Given the description of an element on the screen output the (x, y) to click on. 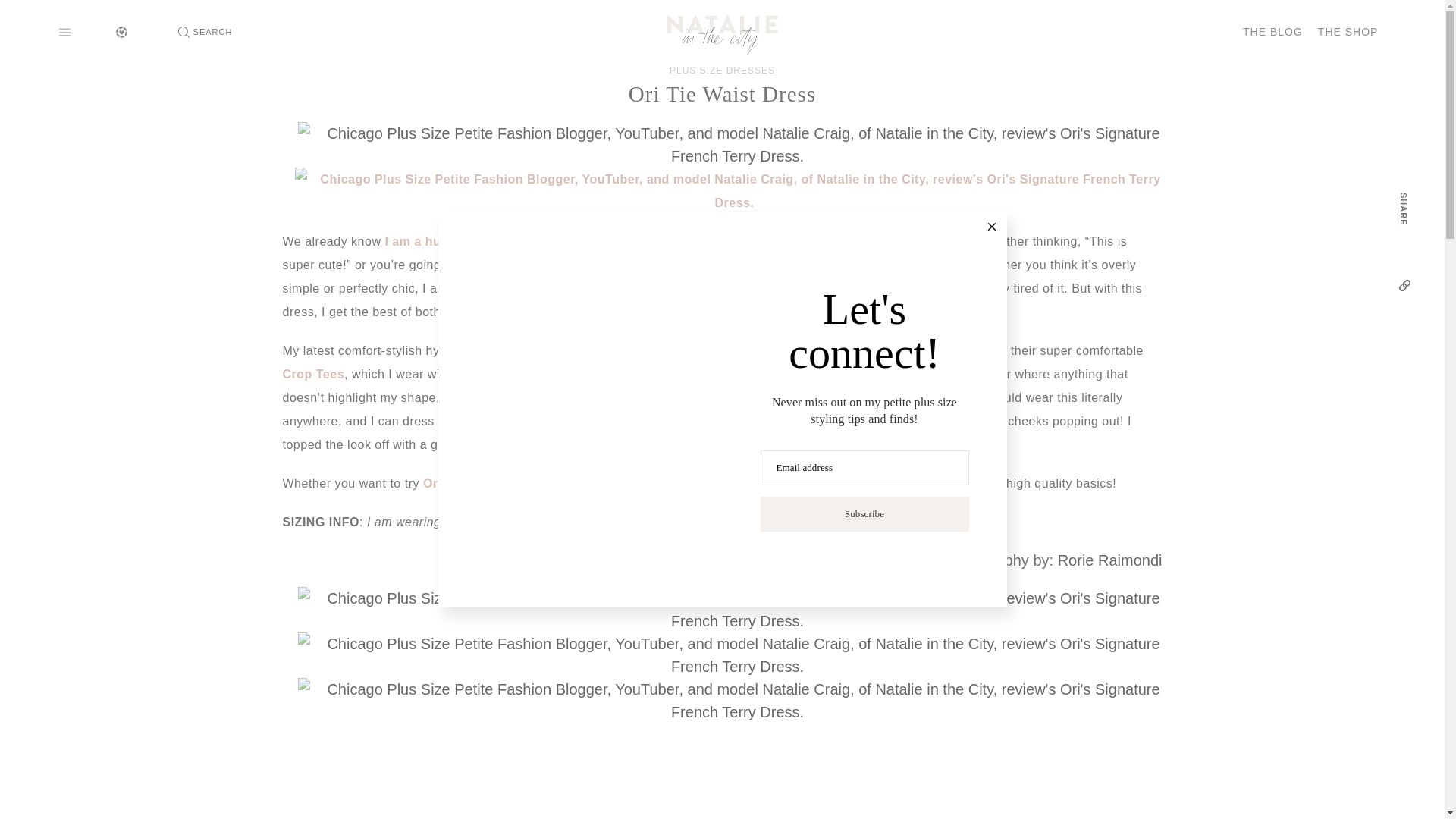
Crop Tees (312, 373)
I am a huge fan of a black garment (489, 241)
Rorie Raimondi (1109, 560)
Ori (773, 350)
THE BLOG (1273, 32)
Steve Madden Snakeskin Rookie Booties (703, 444)
THE SHOP (1347, 32)
PLUS SIZE DRESSES (721, 69)
Signature French Terry Dress (619, 521)
Signature French Terry Dress (640, 350)
